Given the description of an element on the screen output the (x, y) to click on. 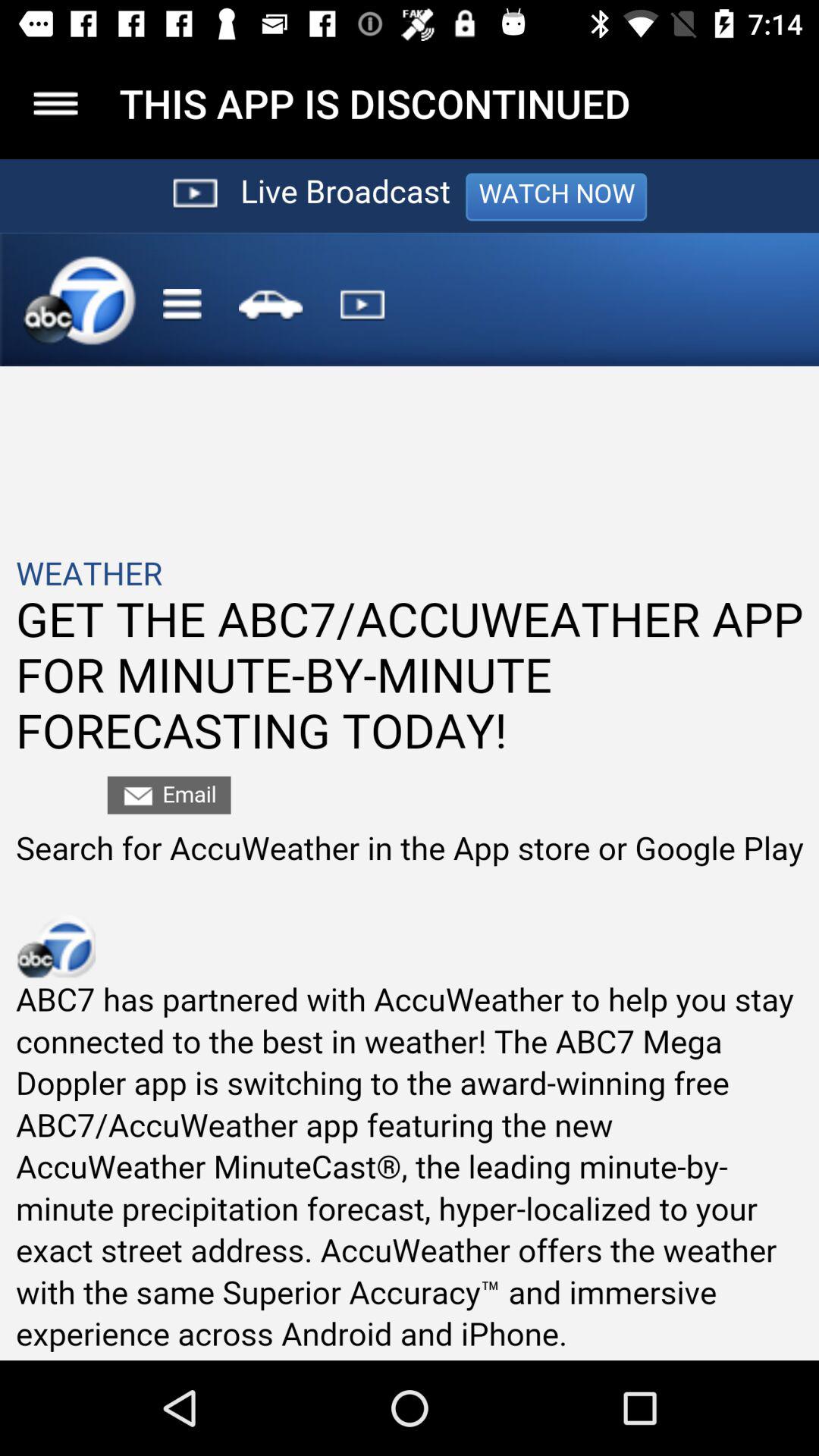
share the article (409, 759)
